Given the description of an element on the screen output the (x, y) to click on. 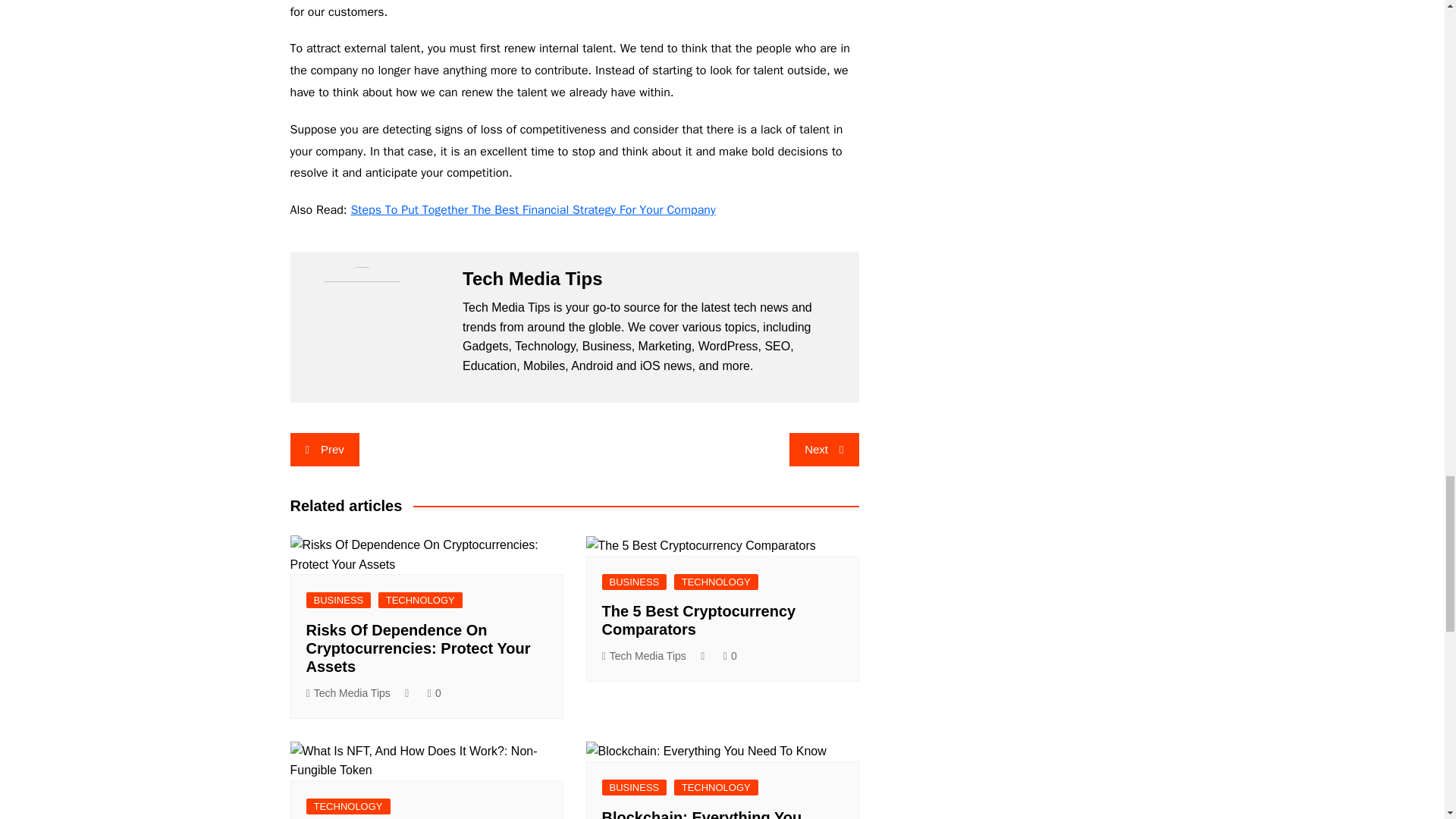
BUSINESS (338, 600)
Risks Of Dependence On Cryptocurrencies: Protect Your Assets (418, 647)
TECHNOLOGY (420, 600)
Next (824, 449)
Prev (323, 449)
Tech Media Tips (347, 692)
